Given the description of an element on the screen output the (x, y) to click on. 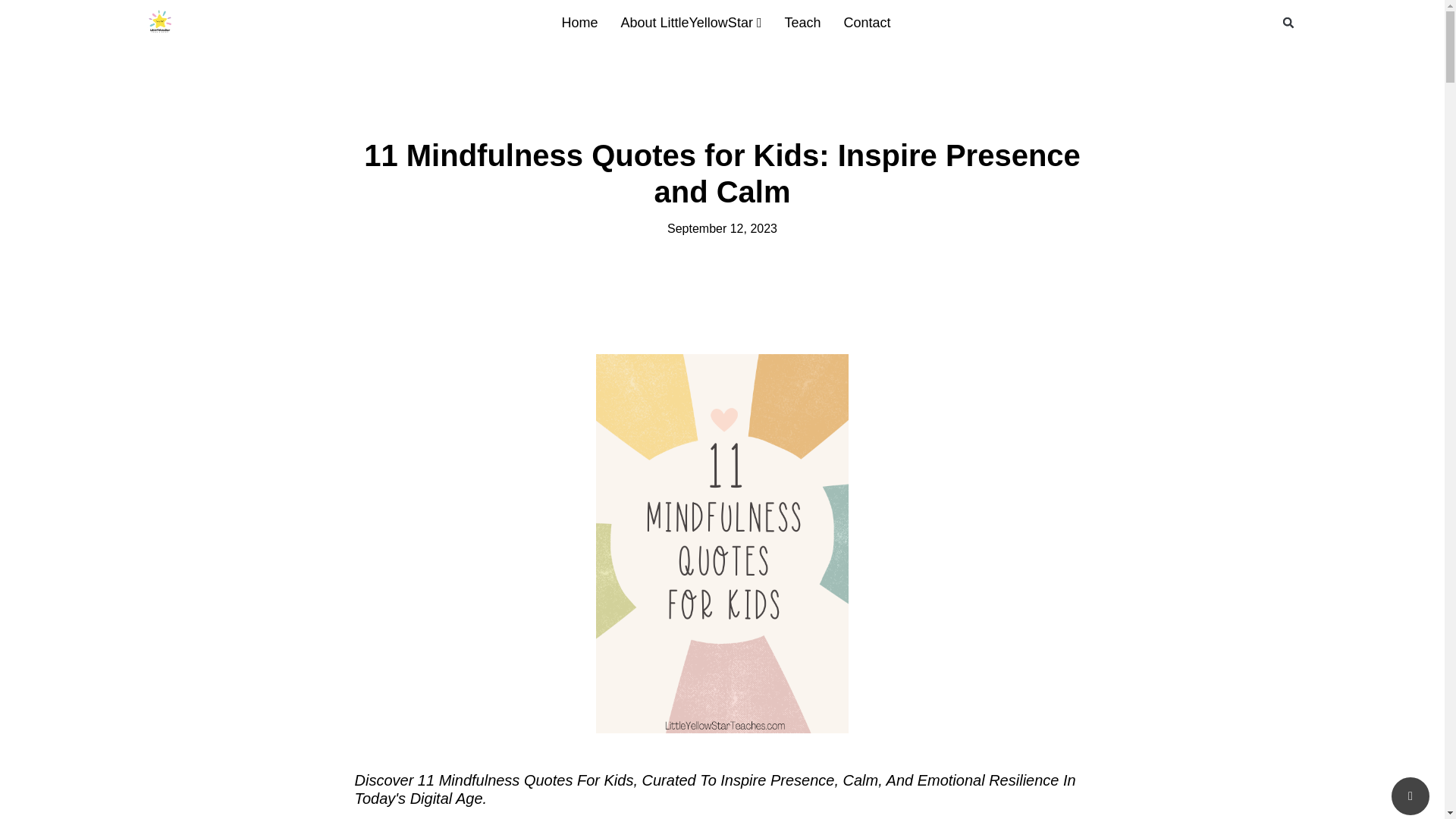
Home (578, 22)
September 12, 2023 (721, 229)
Contact (867, 22)
Teach (802, 22)
